Given the description of an element on the screen output the (x, y) to click on. 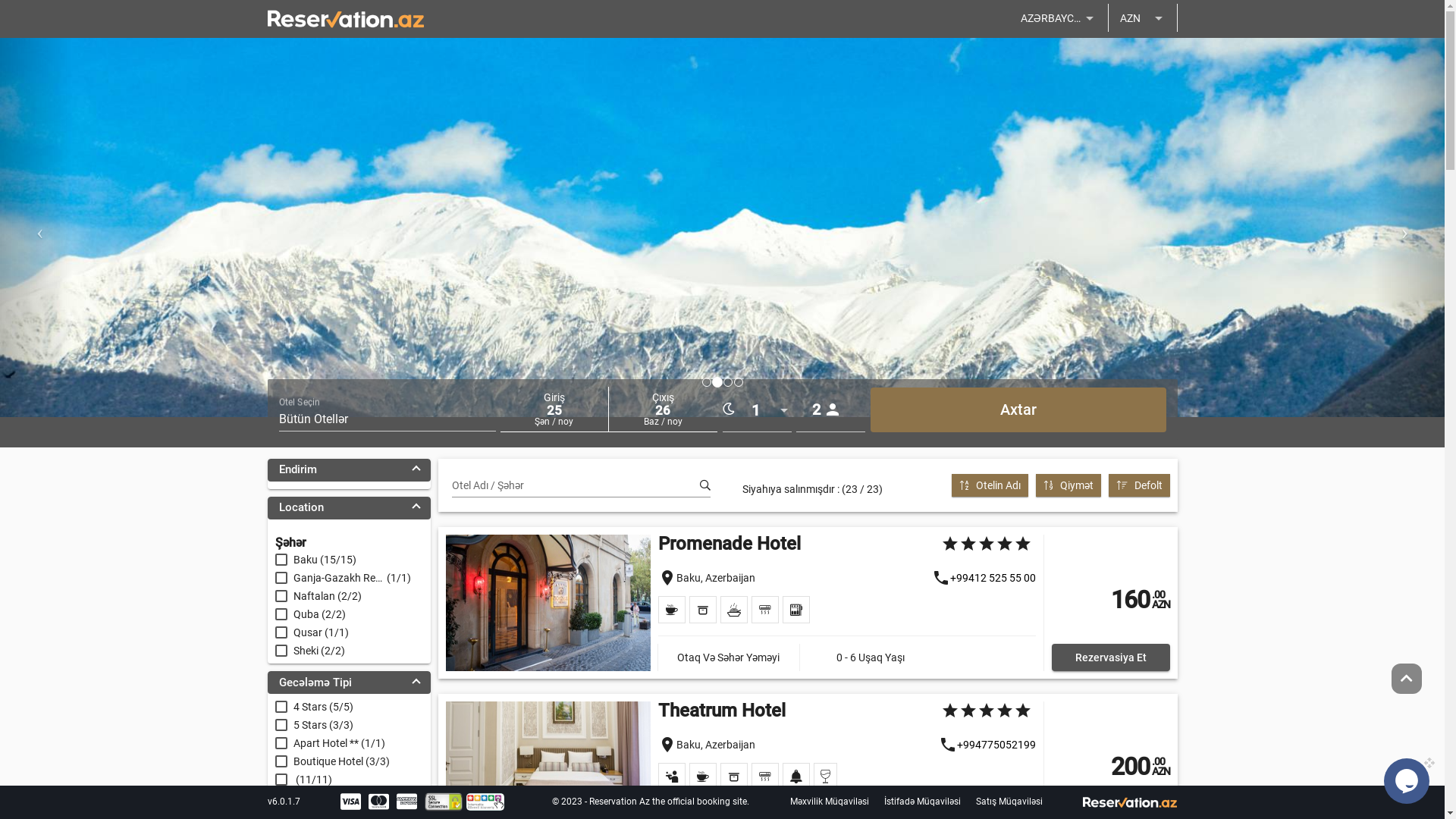
Axtar Element type: text (1018, 408)
+99412 525 55 00 Element type: text (992, 577)
Rezervasiya Et Element type: text (1110, 657)
Next Element type: text (1408, 227)
+994775052199 Element type: text (996, 744)
